Given the description of an element on the screen output the (x, y) to click on. 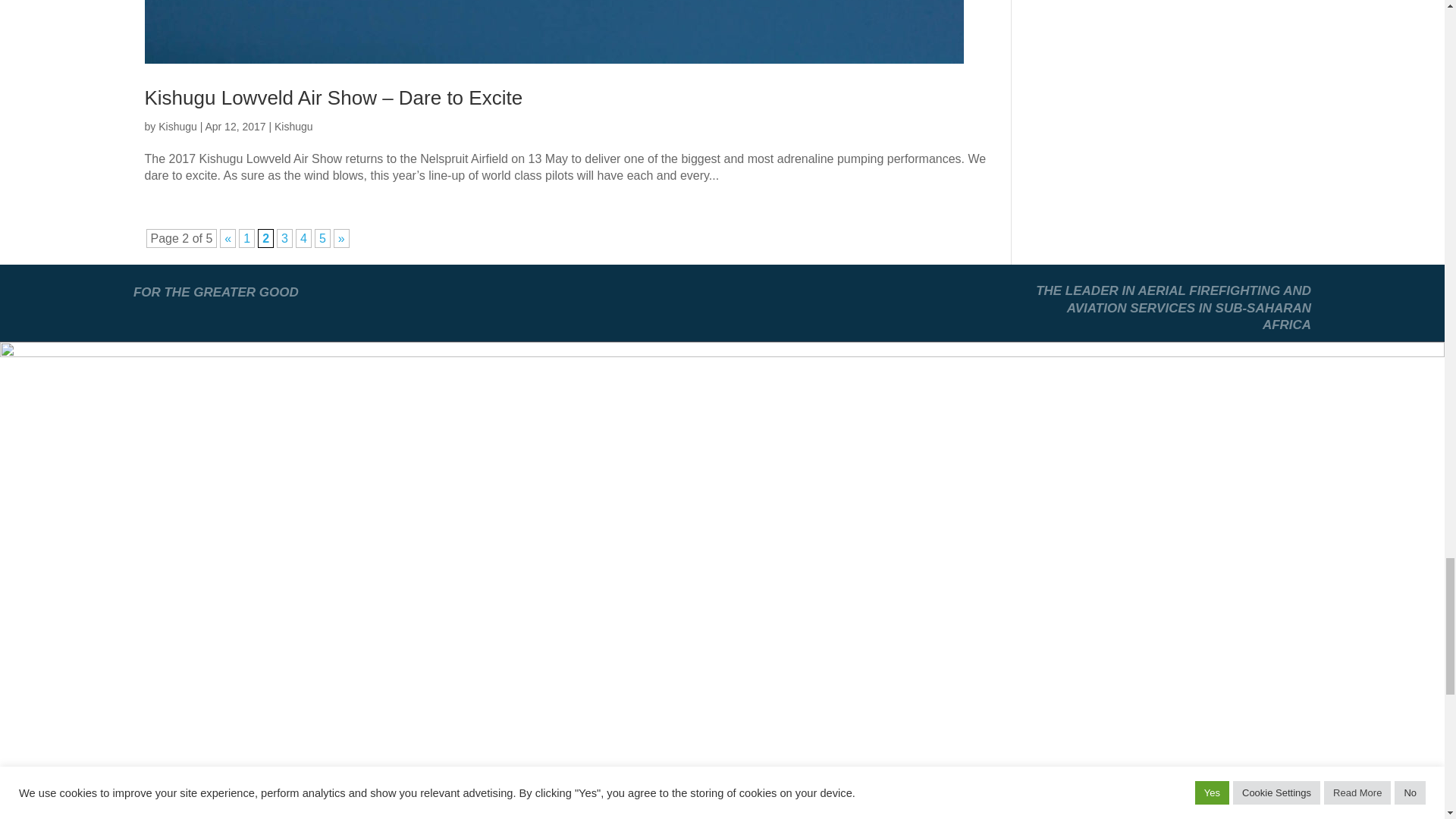
Posts by Kishugu (177, 126)
